Given the description of an element on the screen output the (x, y) to click on. 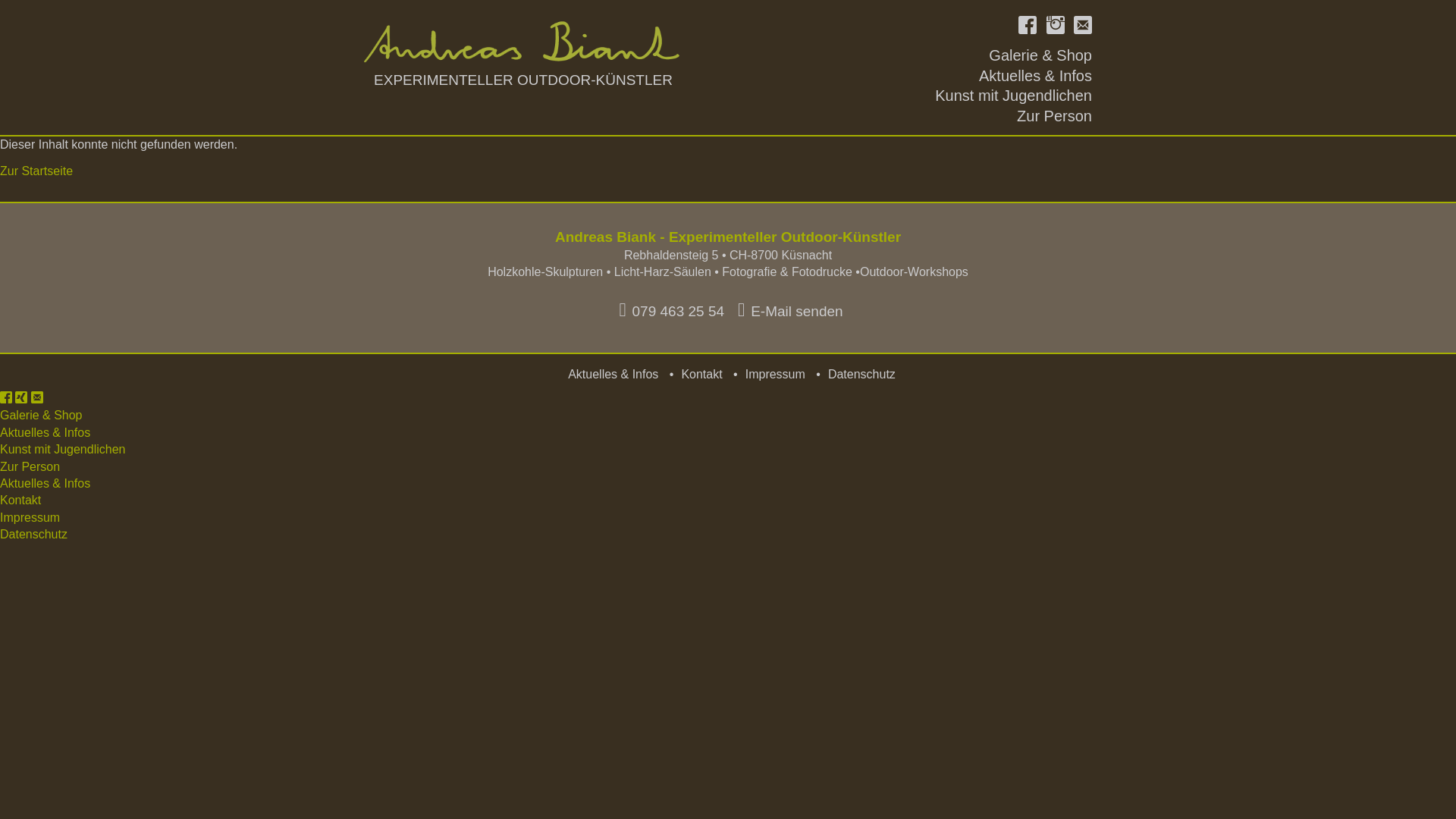
Datenschutz Element type: text (861, 373)
Aktuelles & Infos Element type: text (45, 482)
Facebook Element type: hover (6, 398)
Kunst mit Jugendlichen Element type: text (62, 448)
Aktuelles & Infos Element type: text (612, 373)
Aktuelles & Infos Element type: text (45, 432)
Impressum Element type: text (29, 517)
Kontakt Element type: hover (37, 398)
Kontakt Element type: hover (1082, 27)
Kunst mit Jugendlichen Element type: text (1013, 95)
E-Mail senden Element type: text (787, 309)
Zur Person Element type: text (29, 466)
Kontakt Element type: text (20, 499)
Zur Startseite Element type: text (36, 170)
Aktuelles & Infos Element type: text (1035, 75)
Instagram Element type: hover (1055, 27)
079 463 25 54 Element type: text (668, 309)
Facebook Element type: hover (1027, 27)
Xing Element type: hover (21, 398)
Galerie & Shop Element type: text (41, 414)
Kontakt Element type: text (700, 373)
Impressum Element type: text (775, 373)
Datenschutz Element type: text (33, 533)
Zur Person Element type: text (1054, 115)
Galerie & Shop Element type: text (1040, 55)
